Given the description of an element on the screen output the (x, y) to click on. 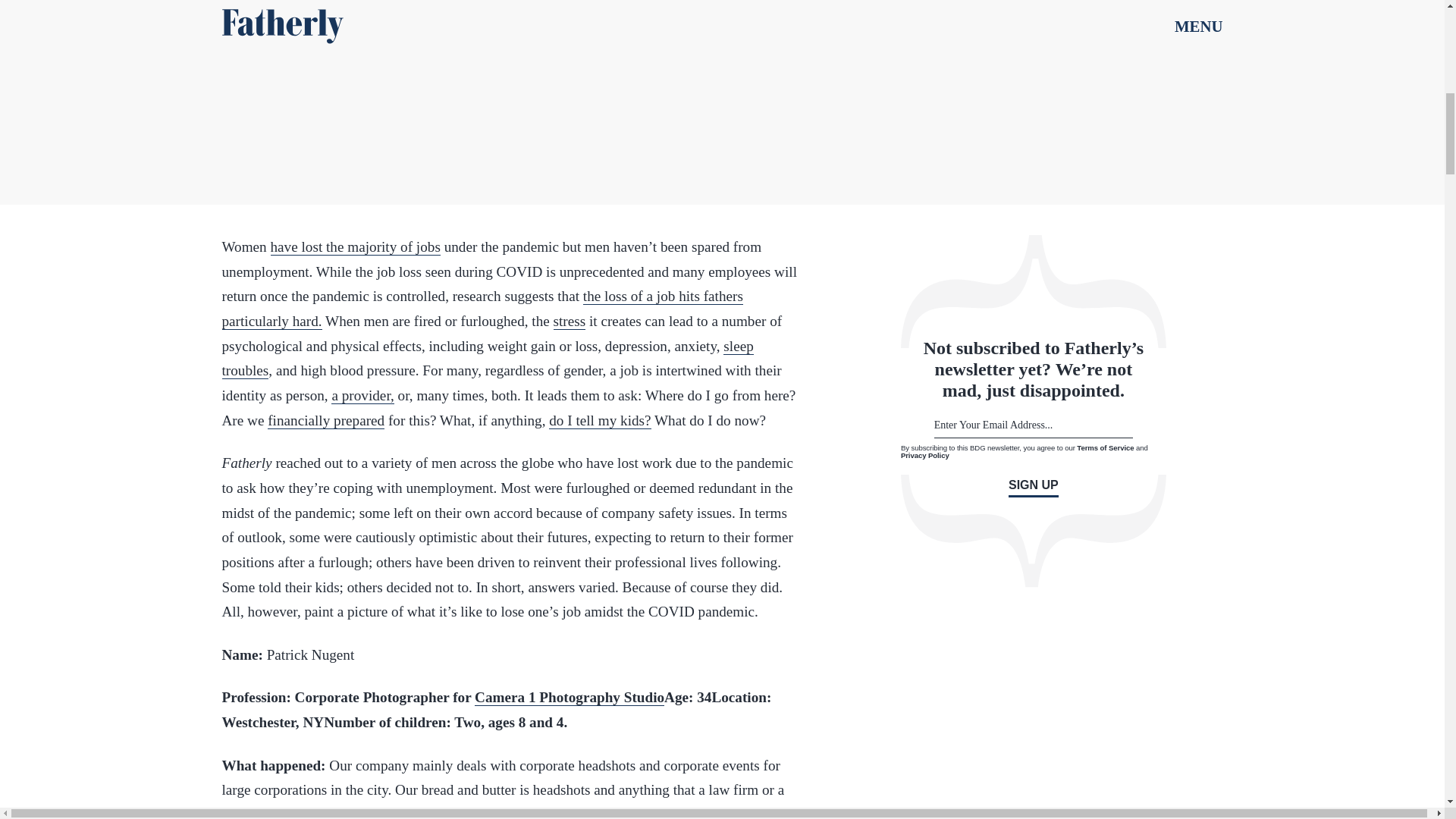
a provider, (362, 395)
sleep troubles (486, 359)
do I tell my kids? (599, 420)
Privacy Policy (925, 455)
Camera 1 Photography Studio (568, 697)
financially prepared (325, 420)
Terms of Service (1105, 447)
stress (569, 321)
the loss of a job hits fathers particularly hard. (481, 309)
SIGN UP (1033, 487)
have lost the majority of jobs (354, 247)
